Given the description of an element on the screen output the (x, y) to click on. 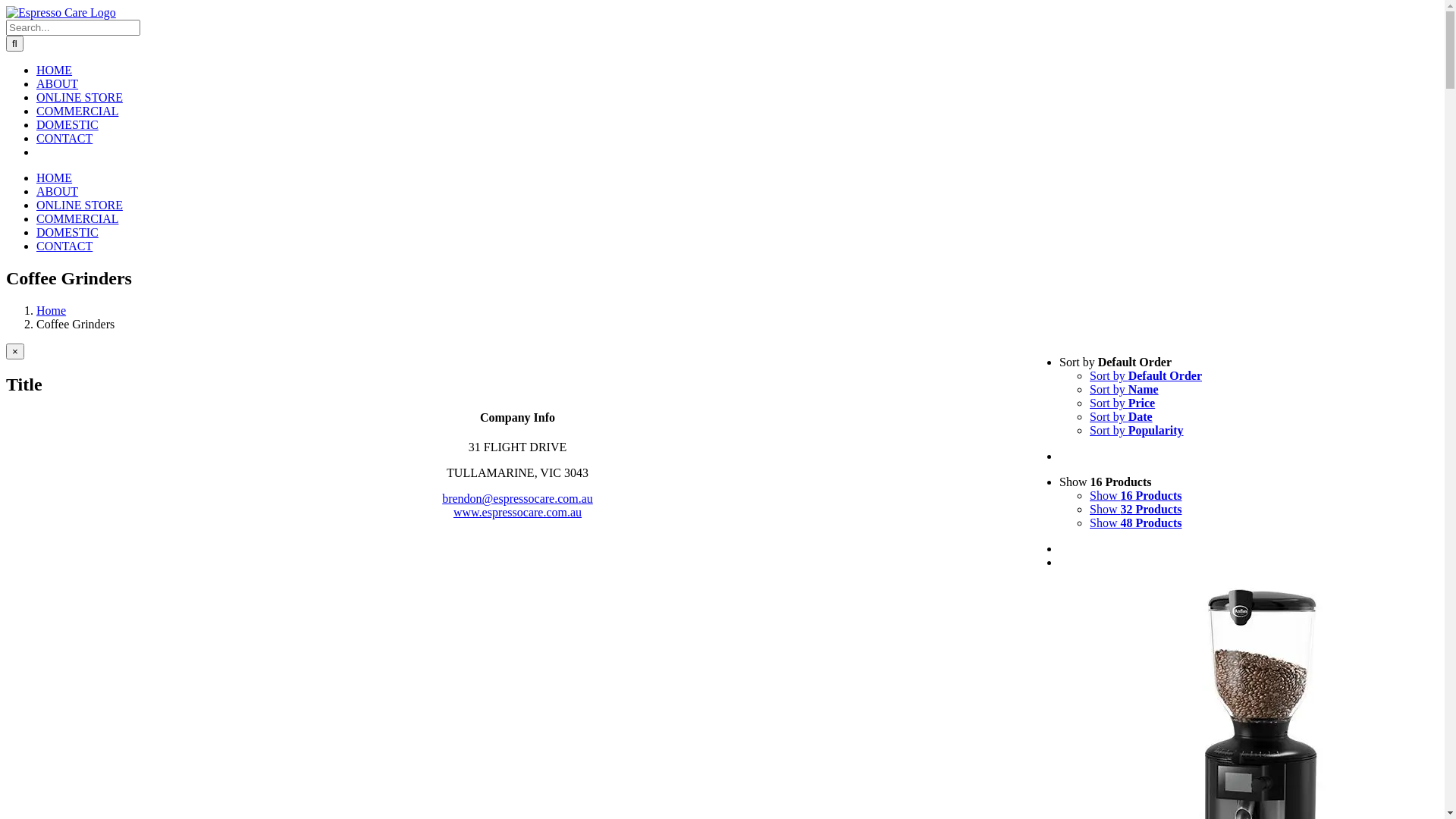
ABOUT Element type: text (57, 191)
DOMESTIC Element type: text (67, 231)
Show 32 Products Element type: text (1135, 508)
COMMERCIAL Element type: text (77, 218)
brendon@espressocare.com.au Element type: text (517, 498)
ONLINE STORE Element type: text (79, 97)
www.espressocare.com.au Element type: text (517, 511)
COMMERCIAL Element type: text (77, 110)
Sort by Default Order Element type: text (1145, 375)
Skip to content Element type: text (5, 5)
Show 16 Products Element type: text (1105, 481)
Sort by Price Element type: text (1121, 402)
Home Element type: text (50, 310)
Sort by Date Element type: text (1120, 416)
Sort by Name Element type: text (1123, 388)
HOME Element type: text (54, 177)
Sort by Default Order Element type: text (1115, 361)
Sort by Popularity Element type: text (1136, 429)
HOME Element type: text (54, 69)
Show 48 Products Element type: text (1135, 522)
CONTACT Element type: text (64, 245)
CONTACT Element type: text (64, 137)
DOMESTIC Element type: text (67, 124)
ONLINE STORE Element type: text (79, 204)
Show 16 Products Element type: text (1135, 495)
ABOUT Element type: text (57, 83)
